Given the description of an element on the screen output the (x, y) to click on. 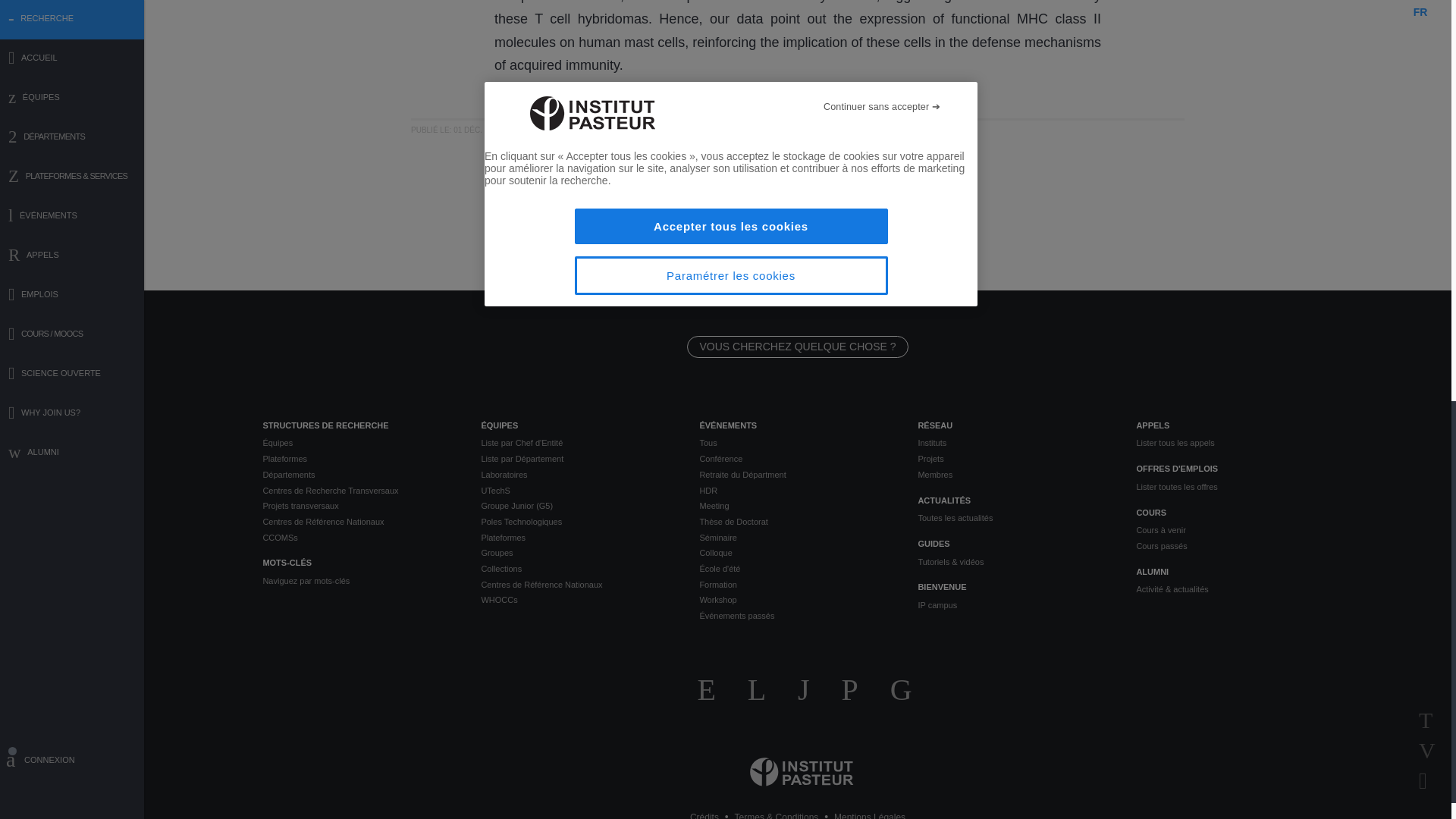
Plateformes (360, 459)
